Given the description of an element on the screen output the (x, y) to click on. 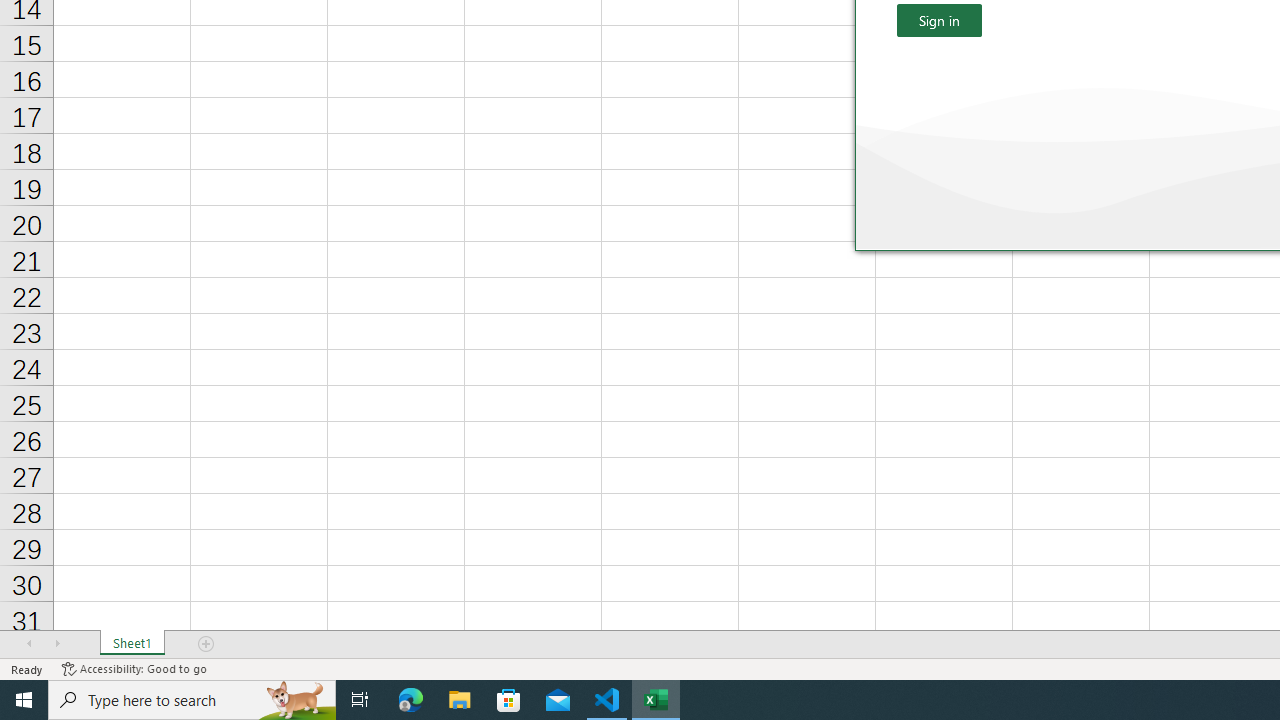
Task View (359, 699)
